Given the description of an element on the screen output the (x, y) to click on. 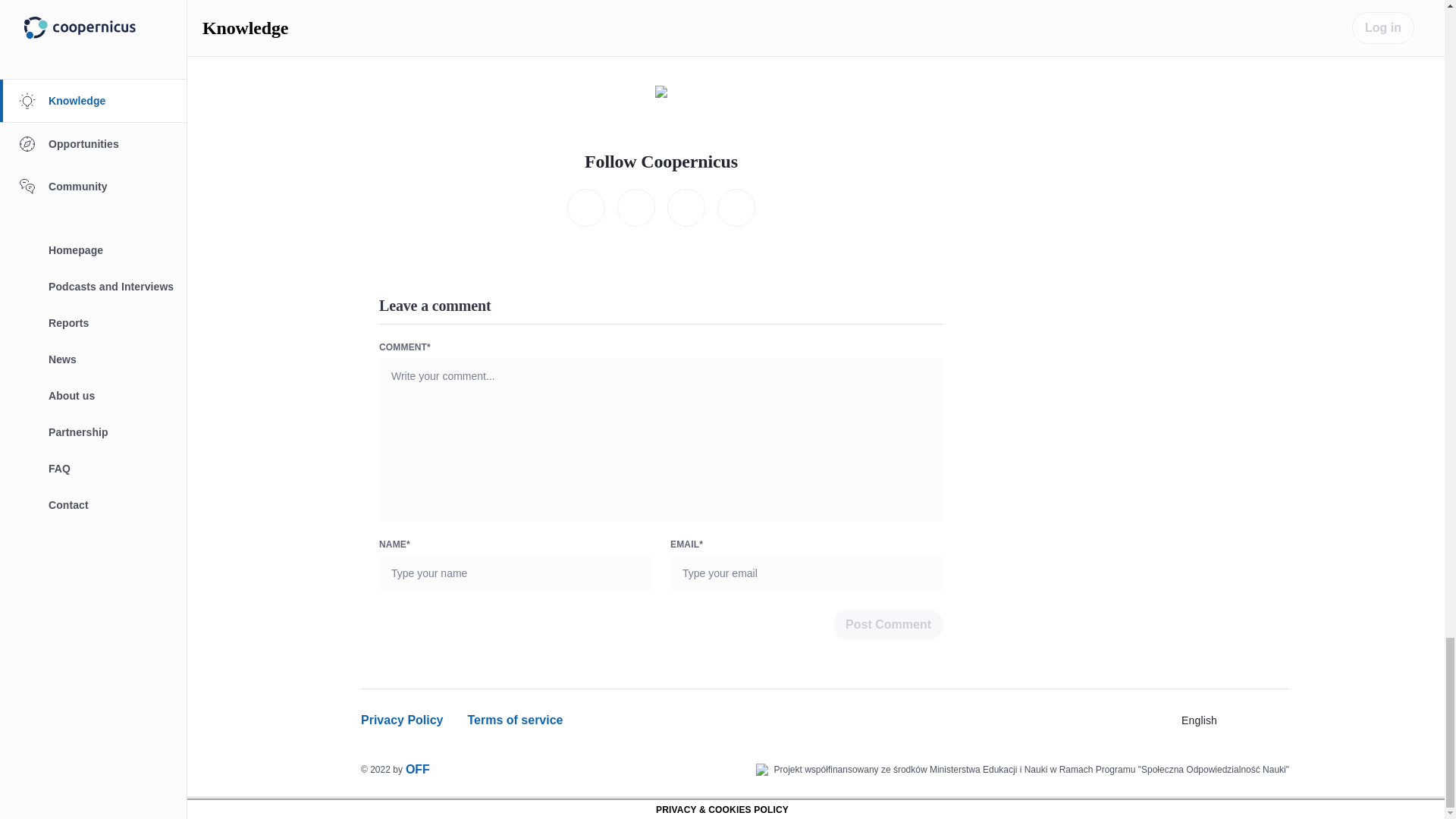
Post Comment (887, 624)
